Given the description of an element on the screen output the (x, y) to click on. 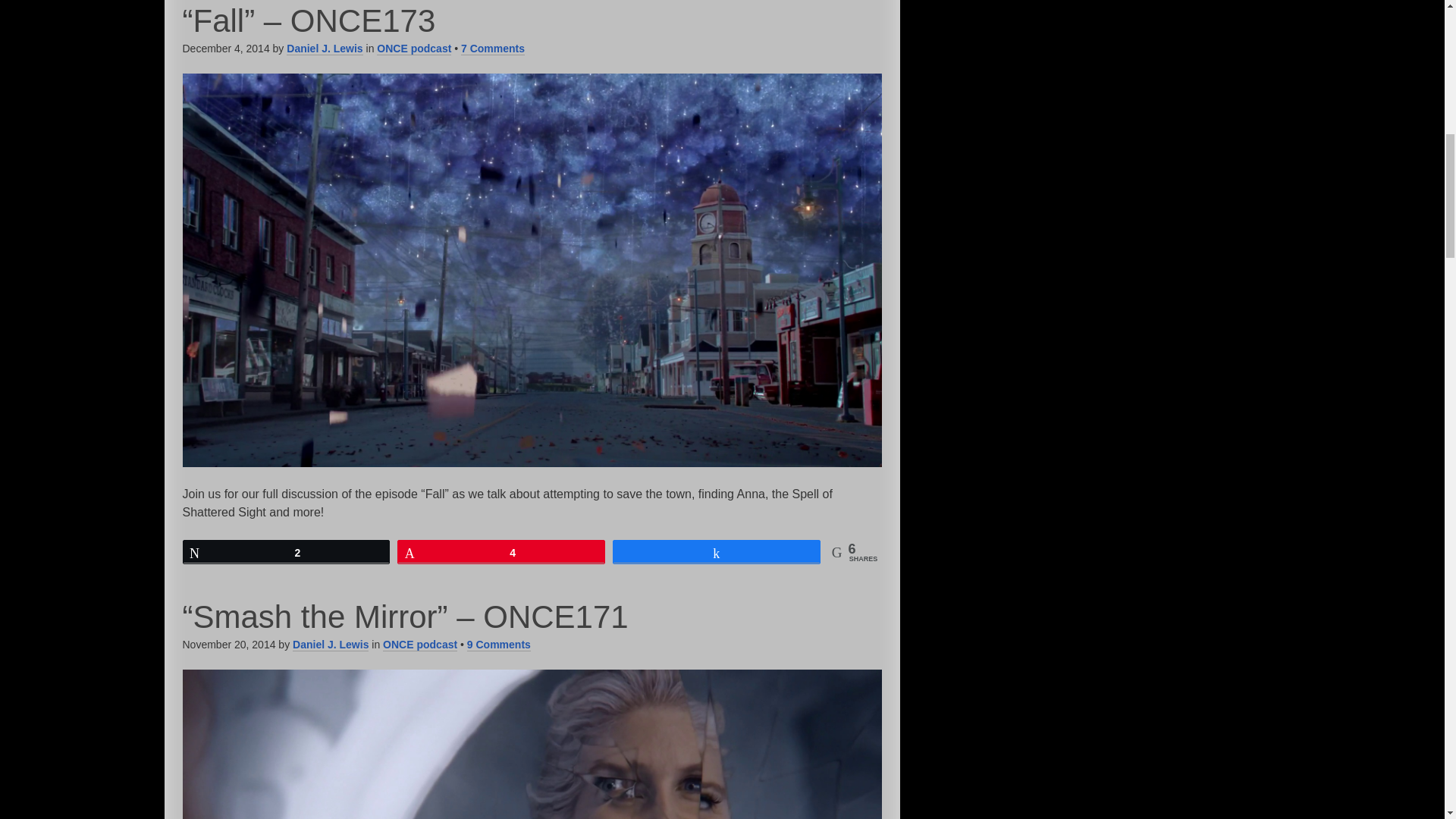
7 Comments (492, 48)
Daniel J. Lewis (330, 644)
2 (286, 551)
ONCE podcast (419, 644)
9 Comments (499, 644)
ONCE podcast (414, 48)
4 (500, 551)
Daniel J. Lewis (324, 48)
